Given the description of an element on the screen output the (x, y) to click on. 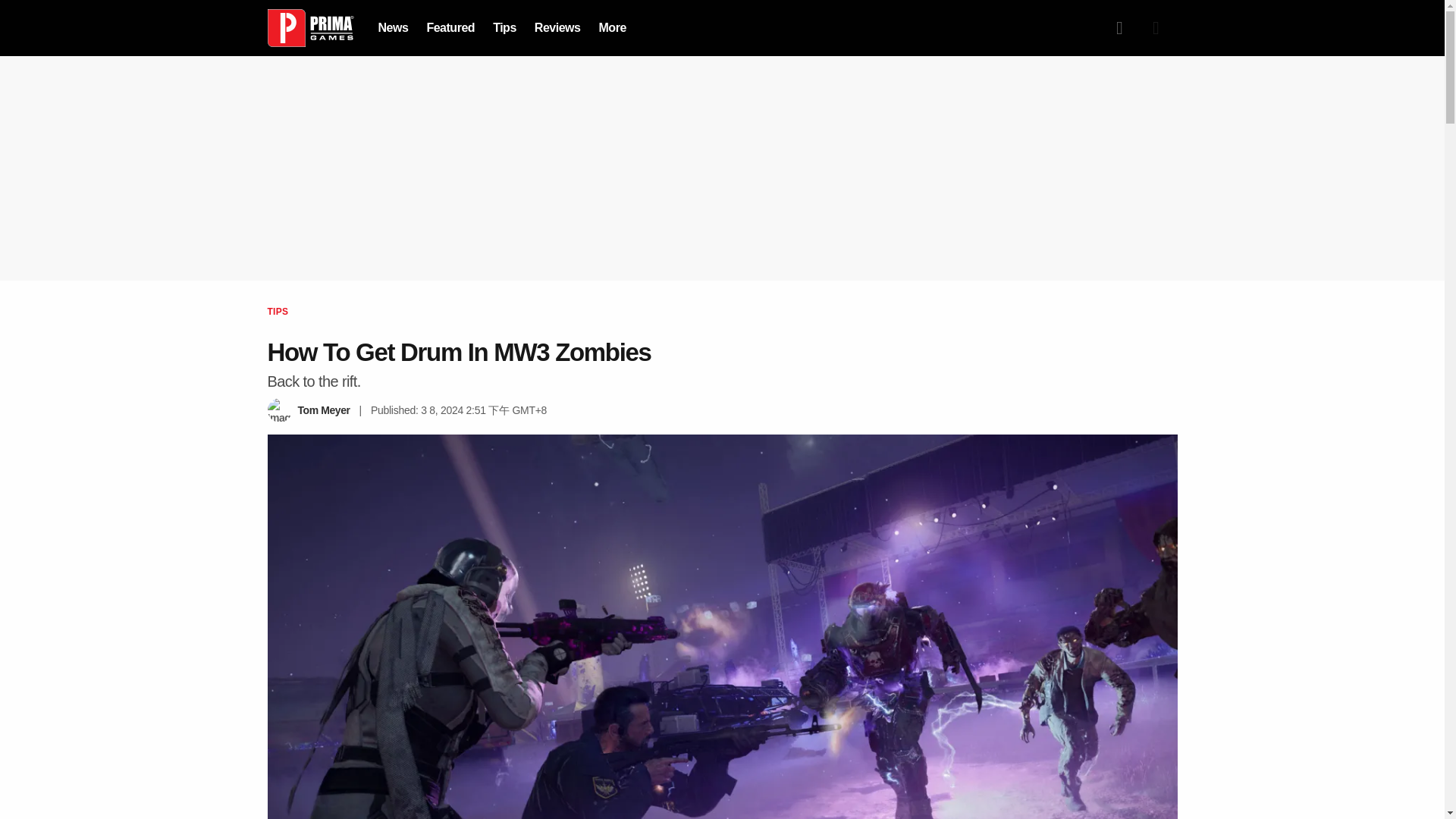
Search (1118, 28)
Reviews (557, 27)
News (392, 27)
Featured (450, 27)
Tips (504, 27)
Dark Mode (1155, 28)
